Given the description of an element on the screen output the (x, y) to click on. 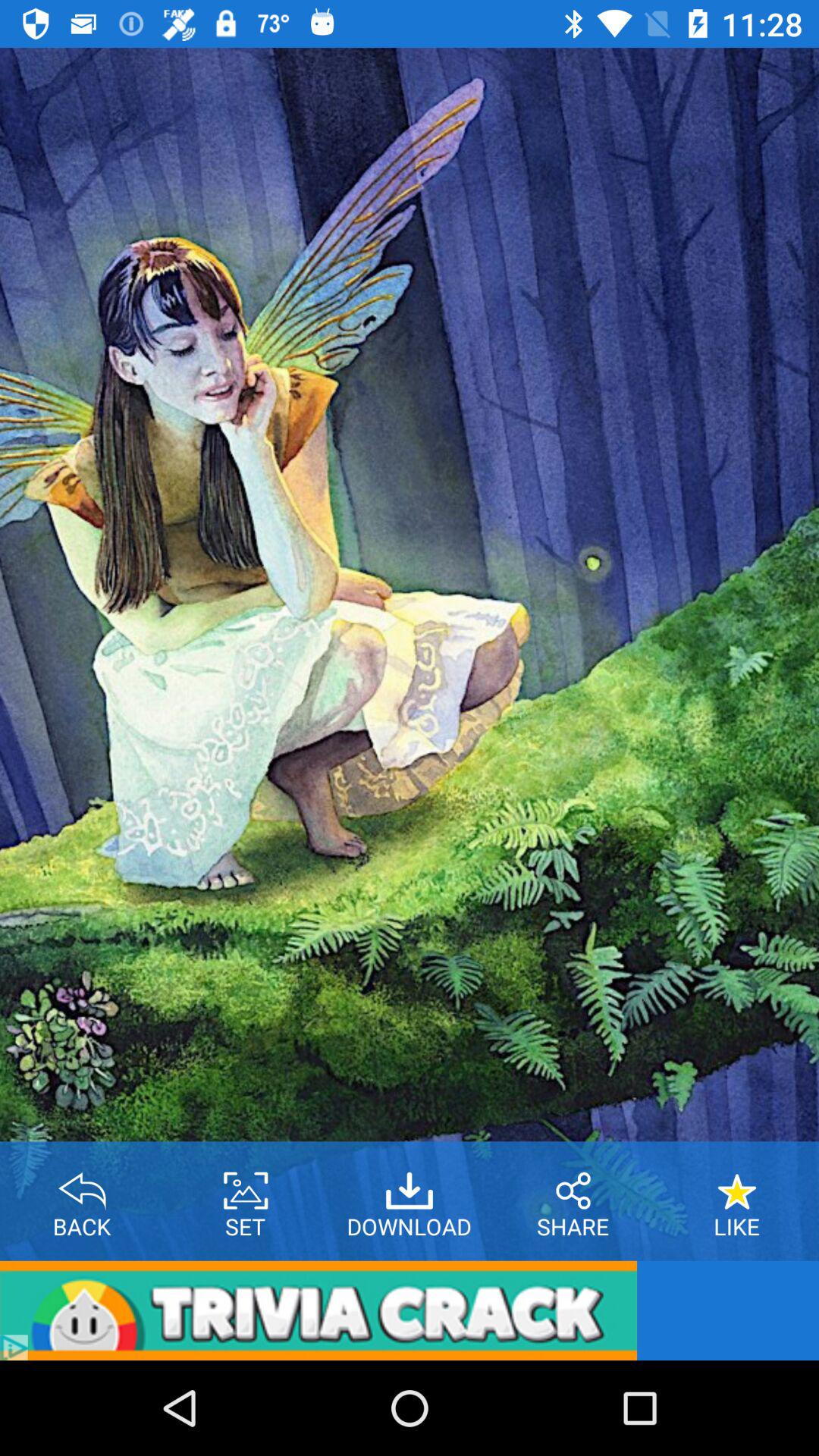
advertisement image (318, 1310)
